Given the description of an element on the screen output the (x, y) to click on. 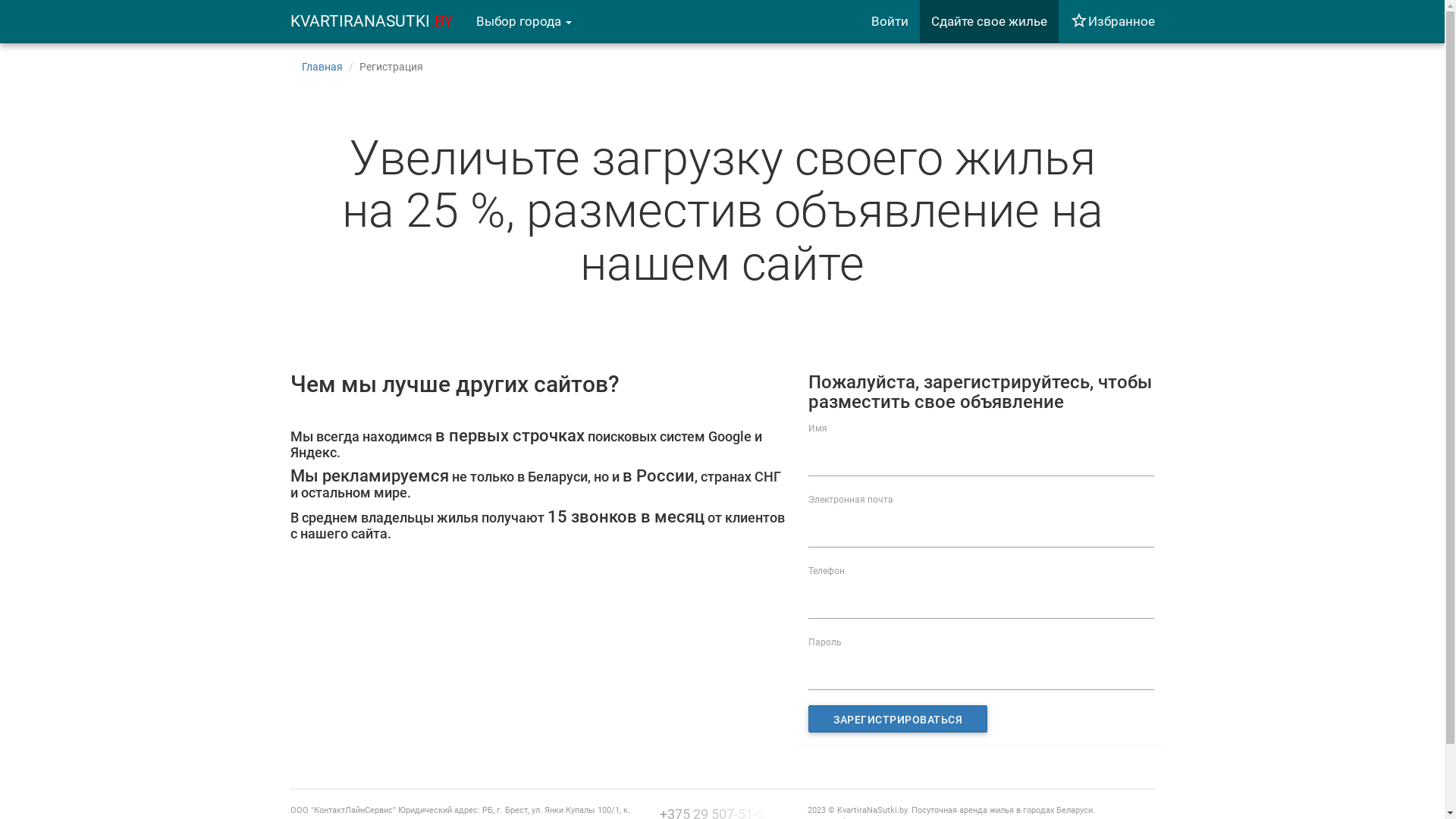
KVARTIRANASUTKI.BY Element type: text (371, 21)
